Given the description of an element on the screen output the (x, y) to click on. 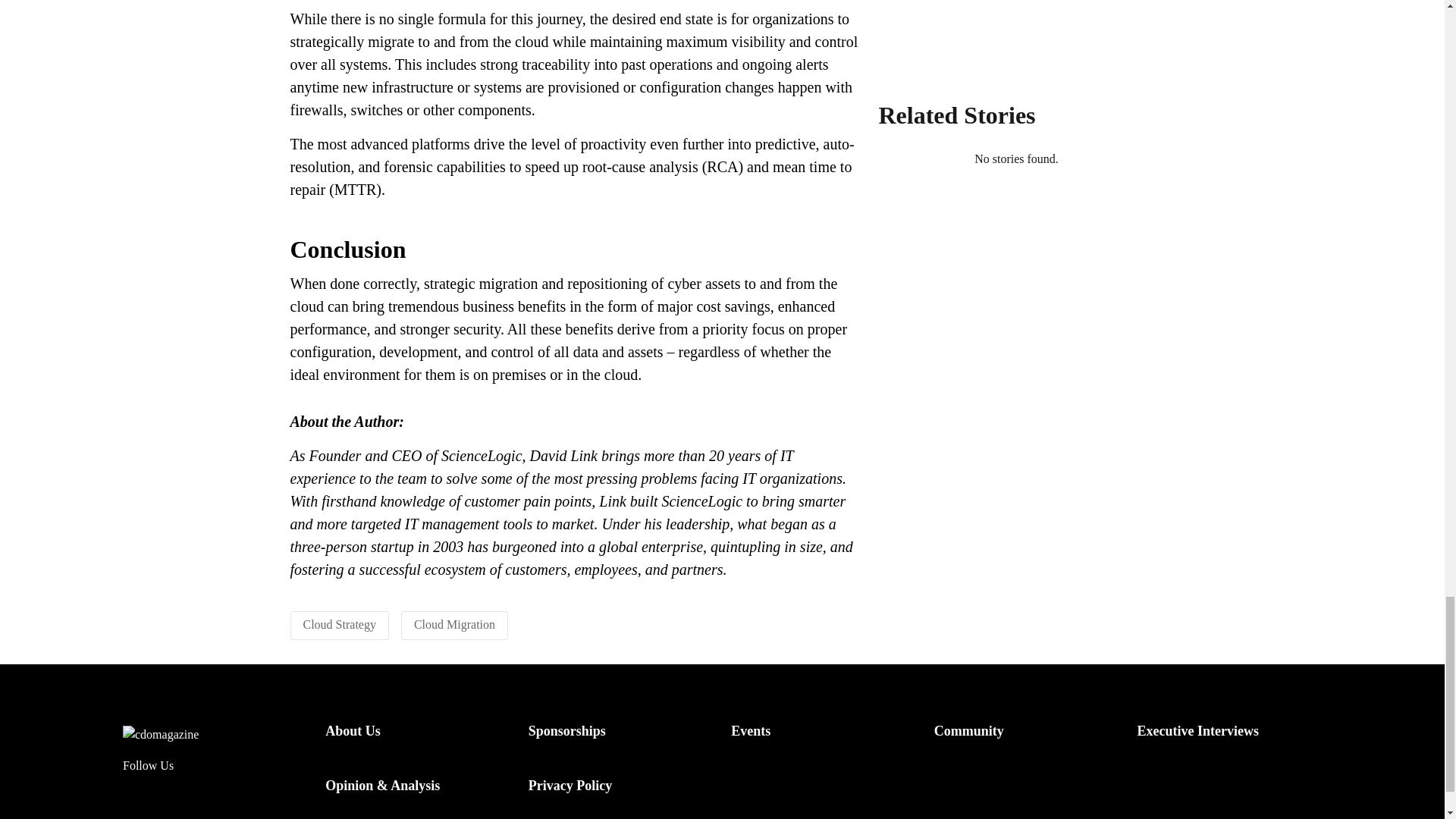
Privacy Policy (569, 785)
About Us (352, 730)
Sponsorships (566, 730)
Cloud Migration (454, 624)
Cloud Strategy (338, 624)
Community (969, 730)
Events (750, 730)
Executive Interviews (1197, 730)
